Given the description of an element on the screen output the (x, y) to click on. 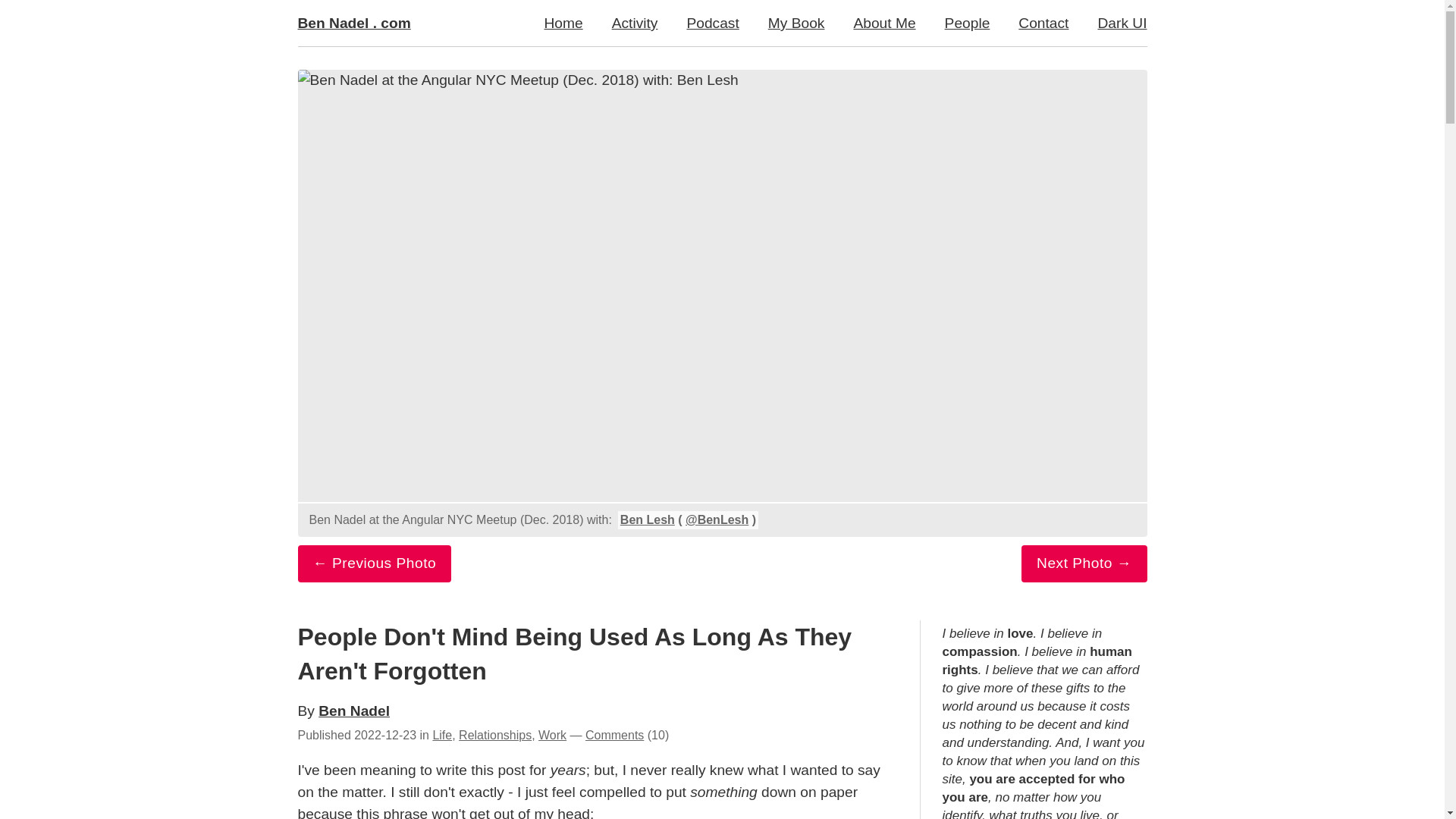
My Book (797, 22)
People (967, 22)
Comments (614, 735)
The amazing people who rock Ben Nadel's world on the daily! (967, 22)
Ben Nadel (354, 710)
Podcast (711, 22)
Dark UI (1115, 22)
Activity (634, 22)
Ben Lesh (647, 519)
Contact (1043, 22)
Relationships (494, 735)
Contact Ben Nadel with questions about web development. (1043, 22)
About Me (884, 22)
Ben Nadel's podcast, Working Code. (711, 22)
